Given the description of an element on the screen output the (x, y) to click on. 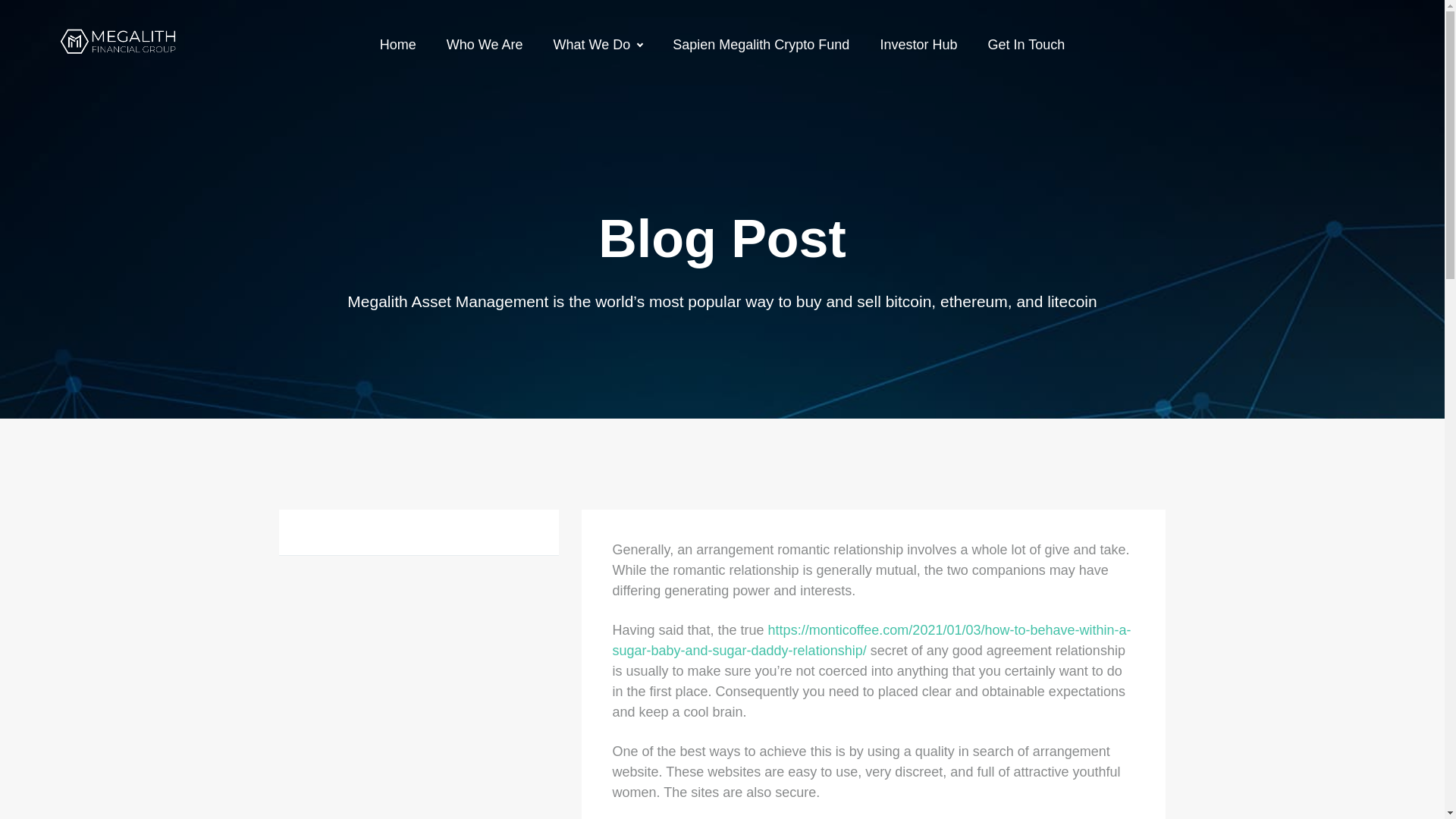
Who We Are (484, 44)
Home (398, 44)
Get In Touch (1025, 44)
Home (398, 44)
Sapien Megalith Crypto Fund (760, 44)
Investor Hub (917, 44)
Sapien Megalith Crypto Fund (760, 44)
What We Do (598, 44)
Get In Touch (1025, 44)
What We Do (598, 44)
